Given the description of an element on the screen output the (x, y) to click on. 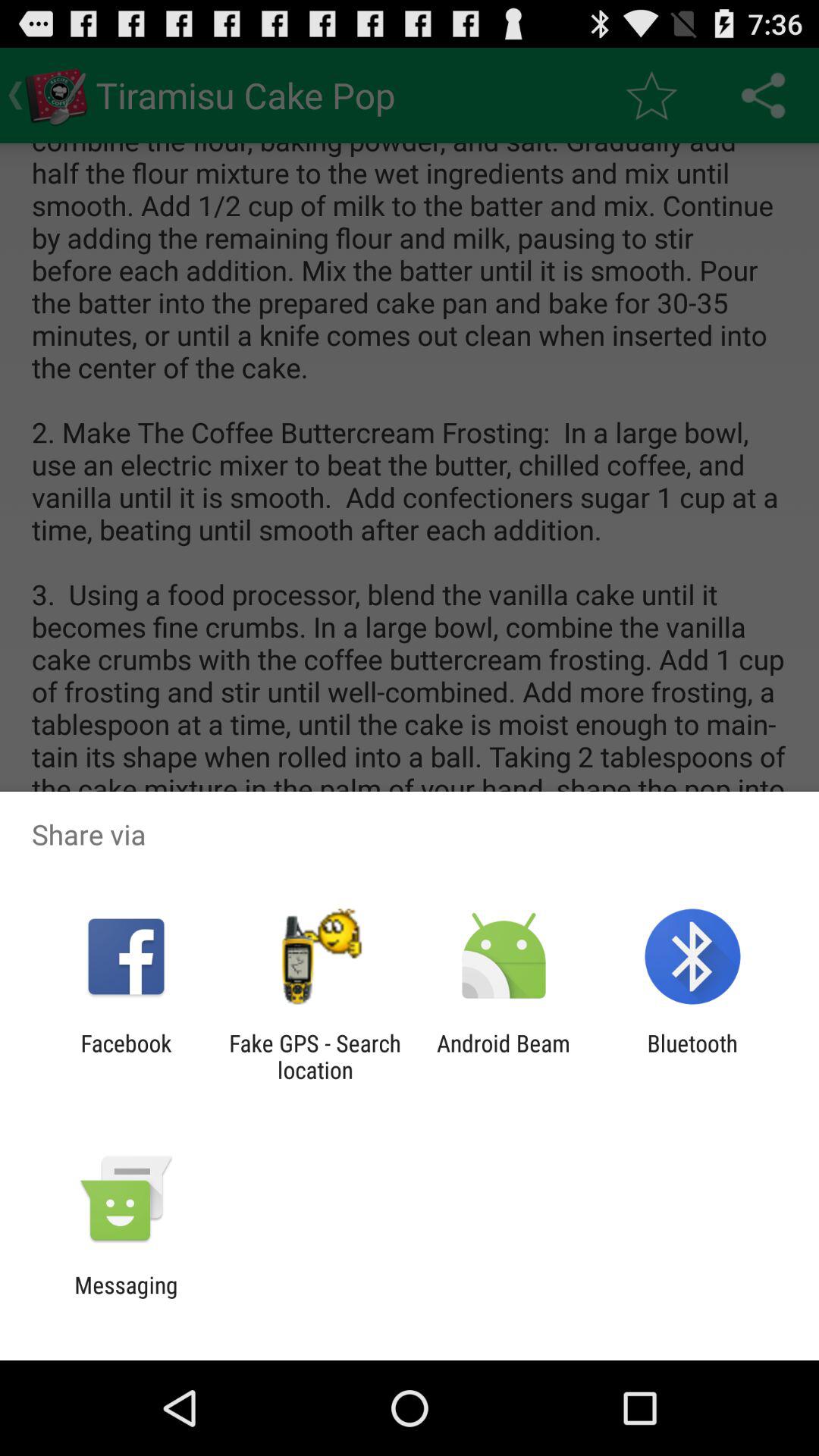
choose item to the left of fake gps search item (125, 1056)
